Given the description of an element on the screen output the (x, y) to click on. 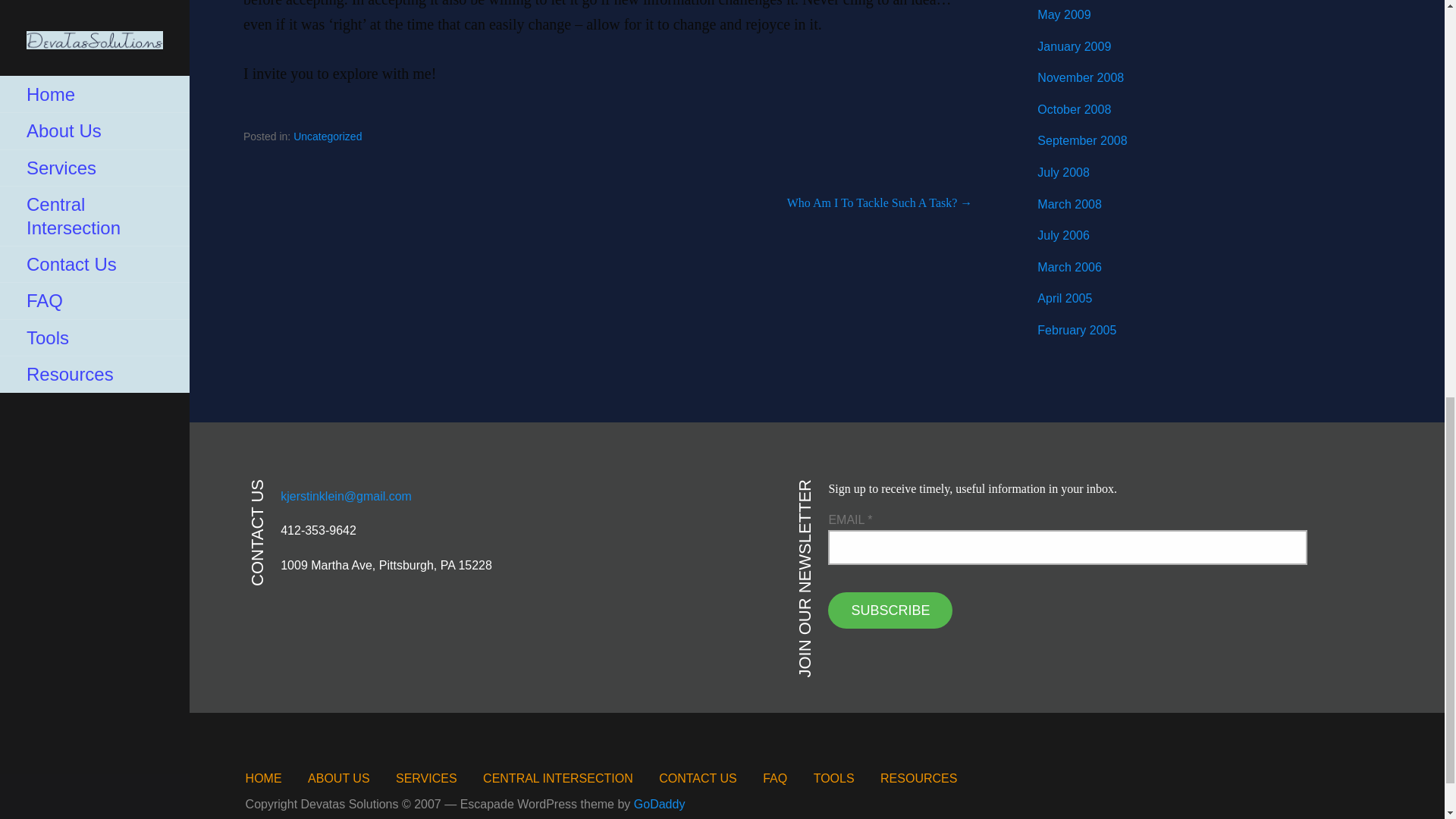
Subscribe (890, 610)
Subscribe (890, 610)
July 2006 (1062, 235)
April 2005 (1064, 297)
January 2009 (1073, 46)
March 2006 (1069, 267)
May 2009 (1063, 14)
October 2008 (1073, 109)
Uncategorized (327, 136)
September 2008 (1081, 140)
